Given the description of an element on the screen output the (x, y) to click on. 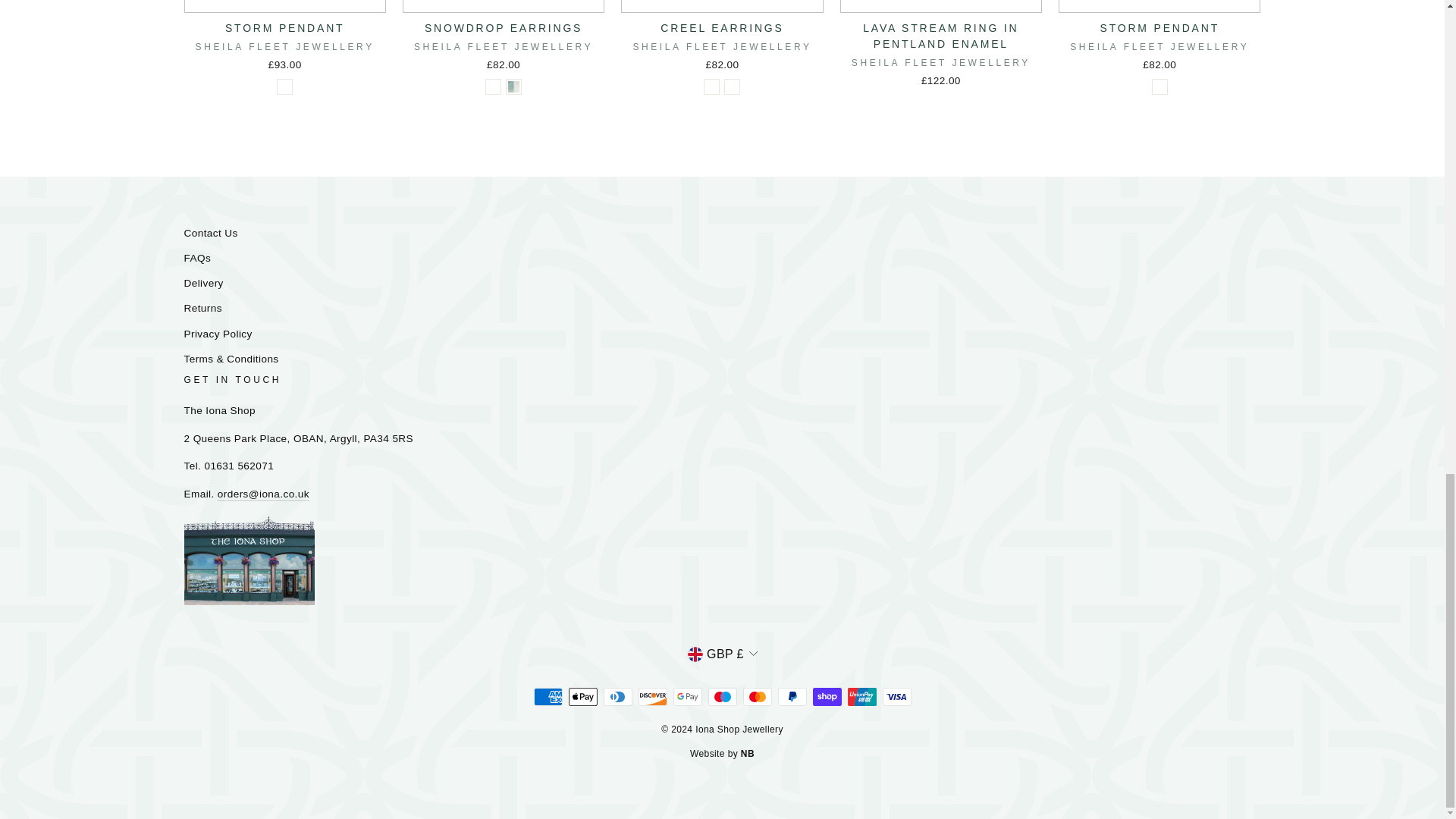
Mastercard (756, 696)
Google Pay (686, 696)
Apple Pay (582, 696)
American Express (548, 696)
Maestro (721, 696)
Visa (896, 696)
Discover (652, 696)
PayPal (791, 696)
Union Pay (861, 696)
Shop Pay (826, 696)
Diners Club (617, 696)
